Given the description of an element on the screen output the (x, y) to click on. 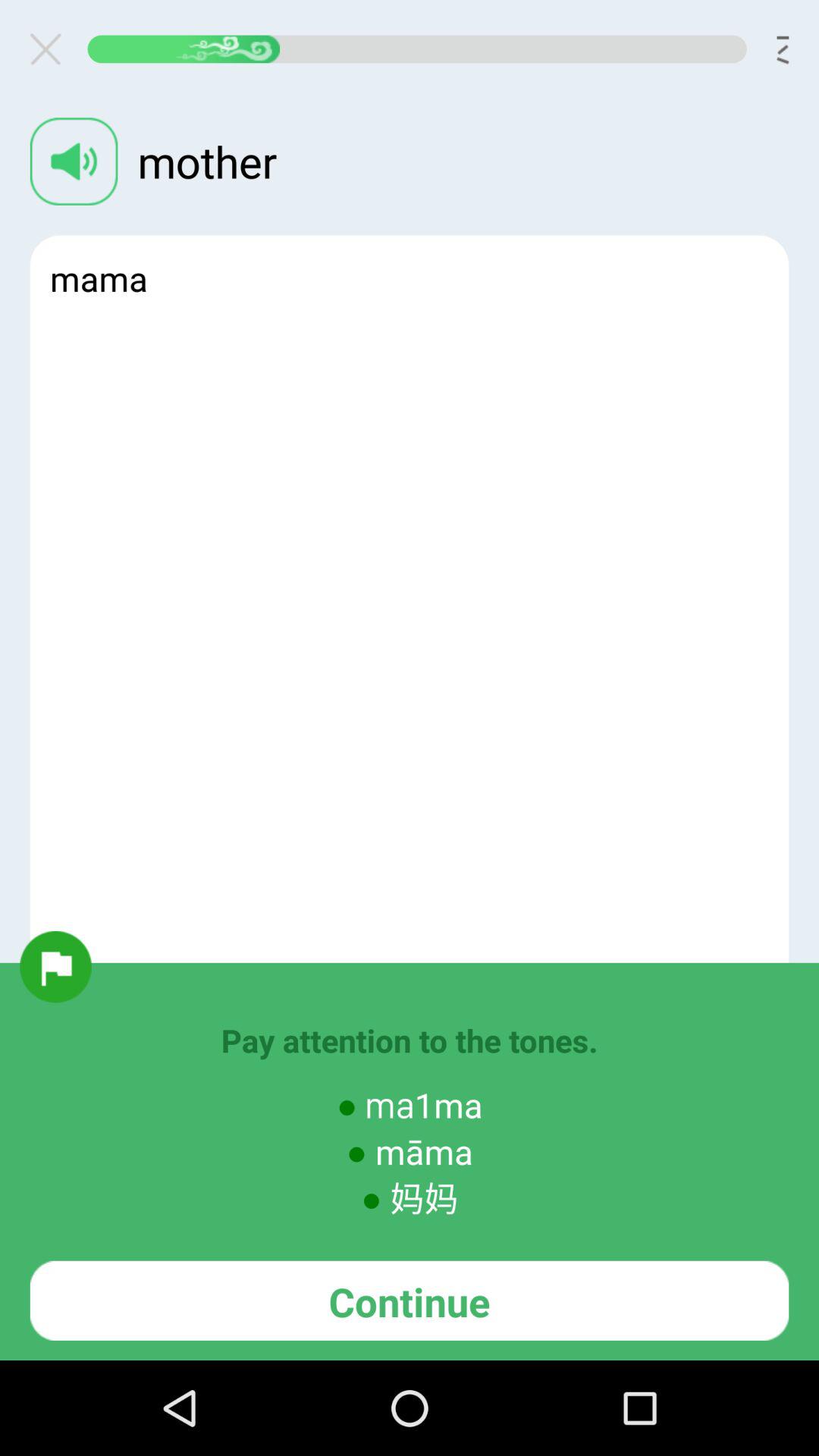
start (55, 966)
